Given the description of an element on the screen output the (x, y) to click on. 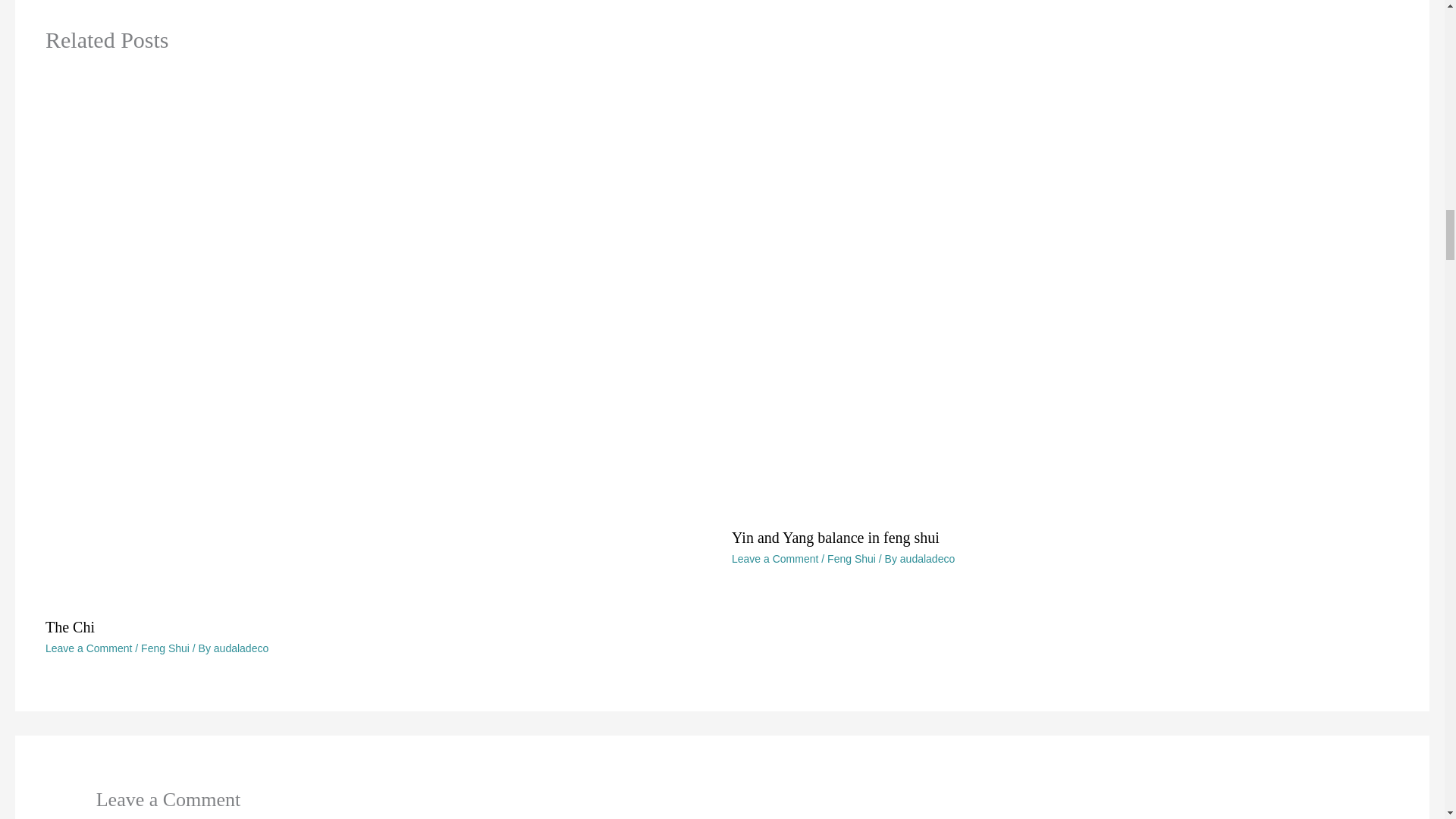
Yin and Yang balance in feng shui (835, 537)
Feng Shui (165, 648)
Leave a Comment (88, 648)
View all posts by audaladeco (240, 648)
audaladeco (240, 648)
audaladeco (927, 558)
View all posts by audaladeco (927, 558)
Feng Shui (851, 558)
Leave a Comment (775, 558)
The Chi (69, 627)
